Given the description of an element on the screen output the (x, y) to click on. 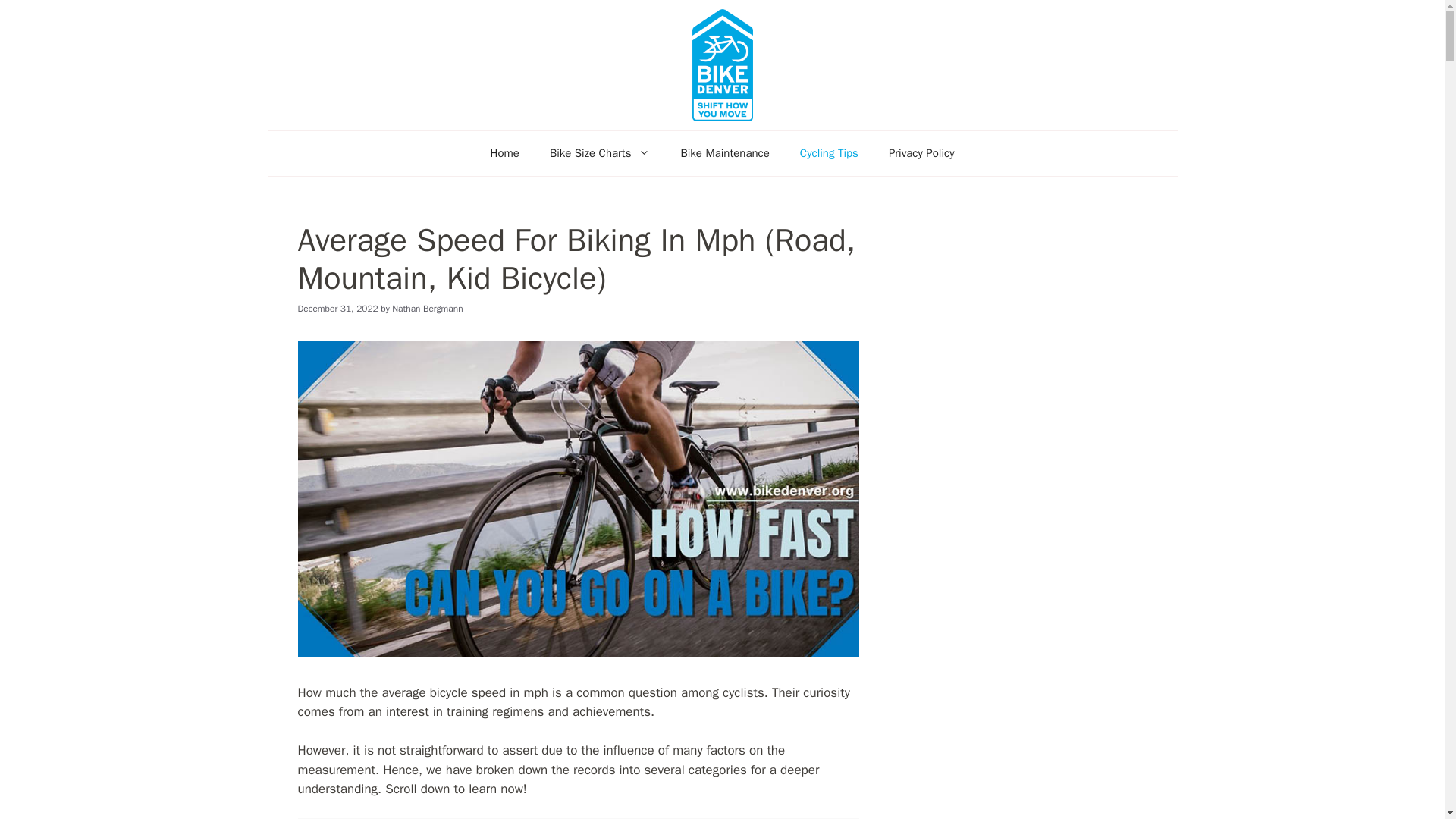
Cycling Tips (828, 153)
Bike Maintenance (724, 153)
Bike Size Charts (599, 153)
Privacy Policy (921, 153)
Home (505, 153)
